Given the description of an element on the screen output the (x, y) to click on. 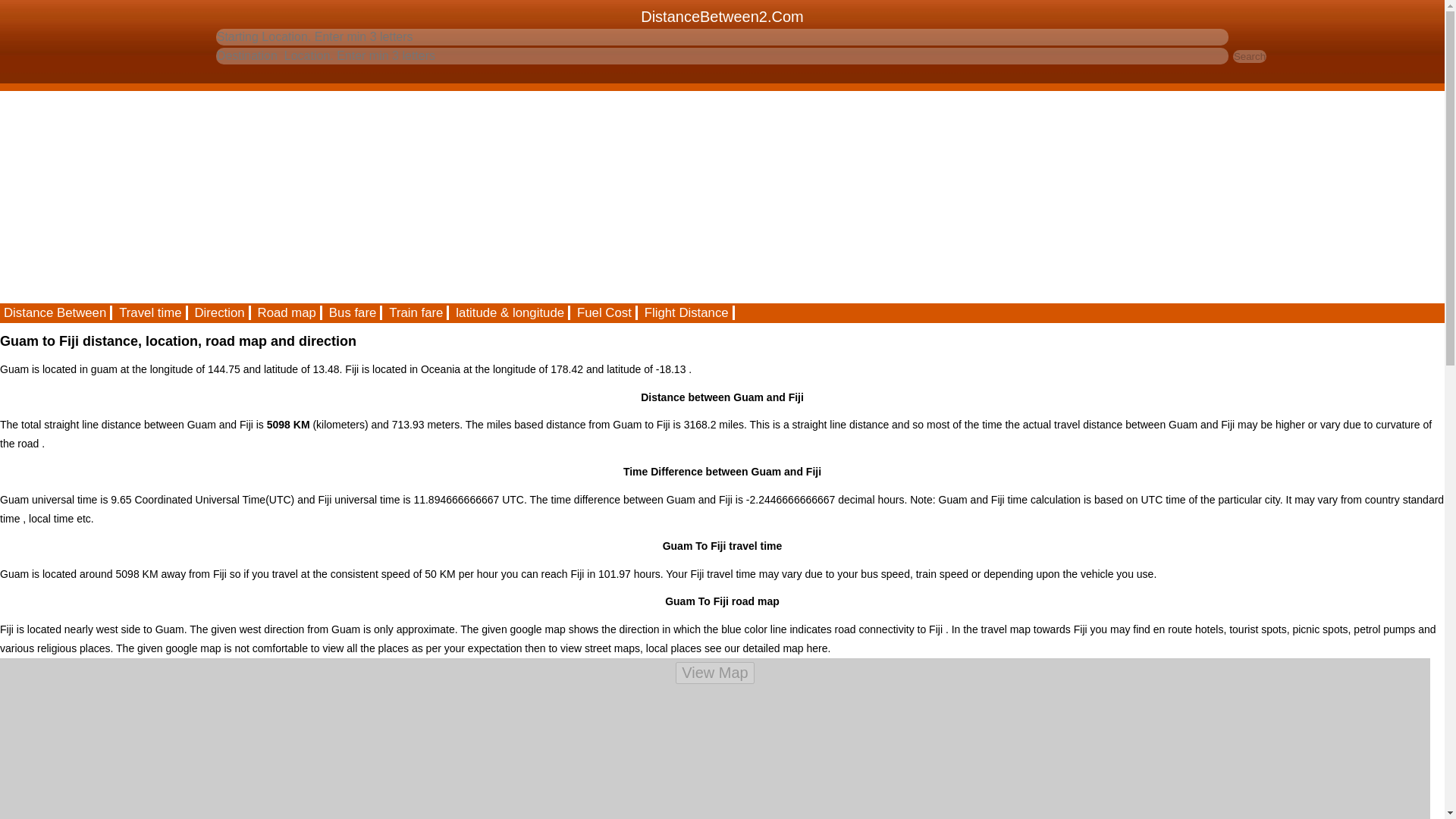
Fuel Cost (605, 312)
Search (1249, 56)
Search (1249, 56)
Train fare (416, 312)
Flight Distance (687, 312)
View Map (714, 672)
Bus fare (353, 312)
driving direction (220, 312)
Road map (287, 312)
Direction (220, 312)
Travel time (151, 312)
Distance Between (56, 312)
